Given the description of an element on the screen output the (x, y) to click on. 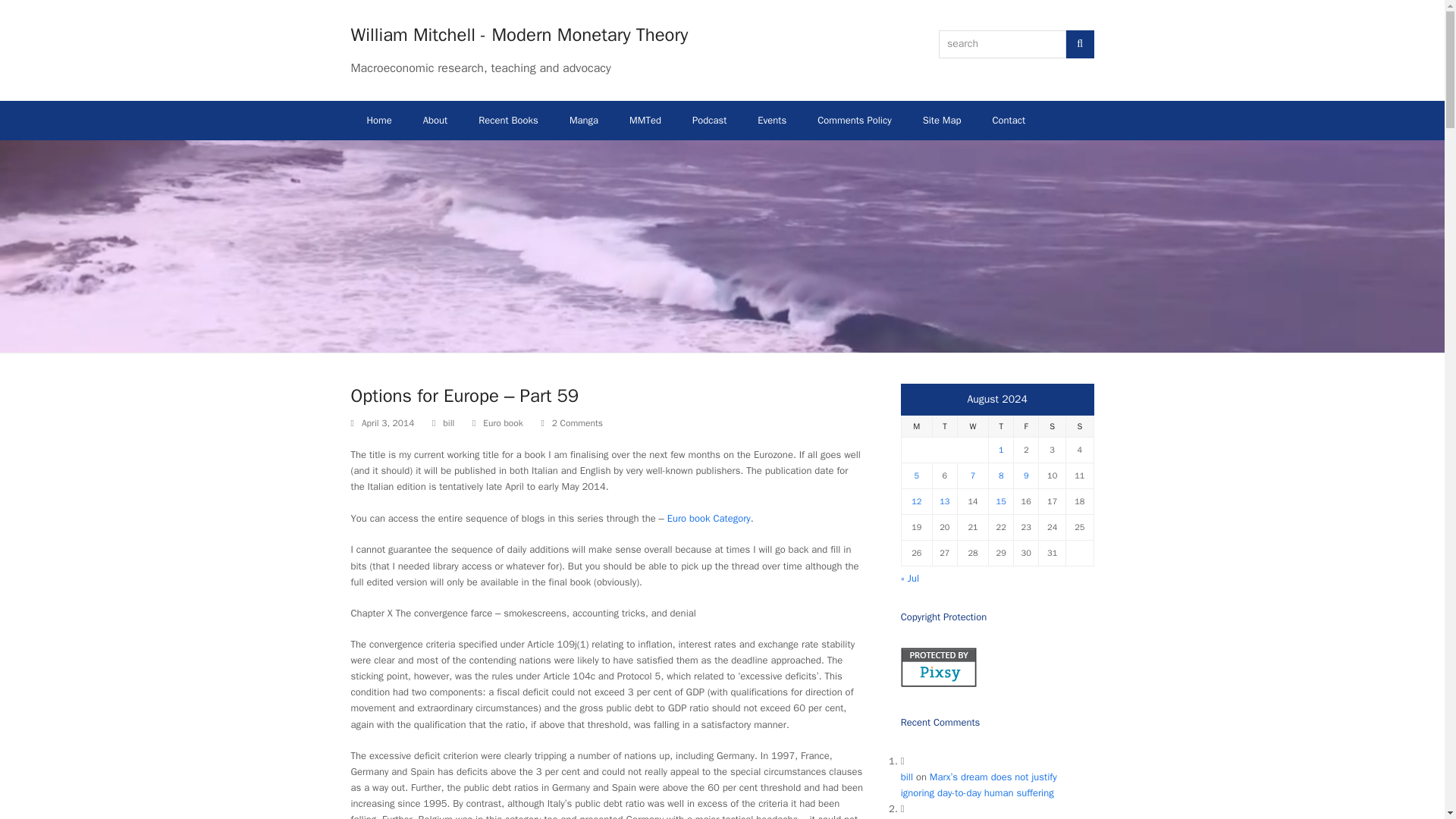
William Mitchell - Modern Monetary Theory (518, 34)
Saturday (1052, 426)
About (435, 120)
Comments Policy (853, 120)
2 Comments (576, 423)
Euro book (502, 422)
Search (1079, 44)
Thursday (1000, 426)
Euro book Category (708, 517)
Contact (1008, 120)
